Given the description of an element on the screen output the (x, y) to click on. 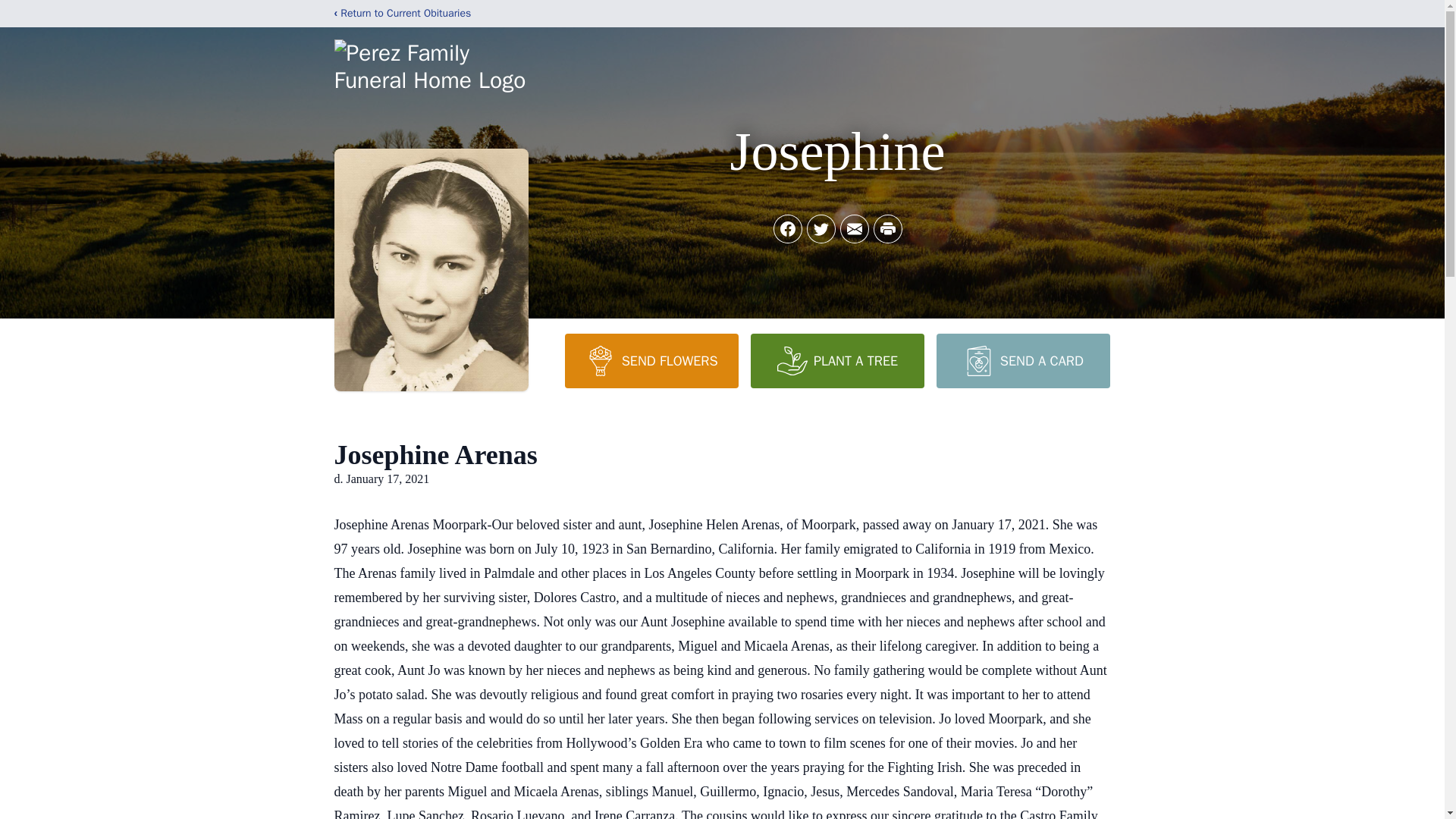
SEND FLOWERS (651, 360)
PLANT A TREE (837, 360)
SEND A CARD (1022, 360)
